Given the description of an element on the screen output the (x, y) to click on. 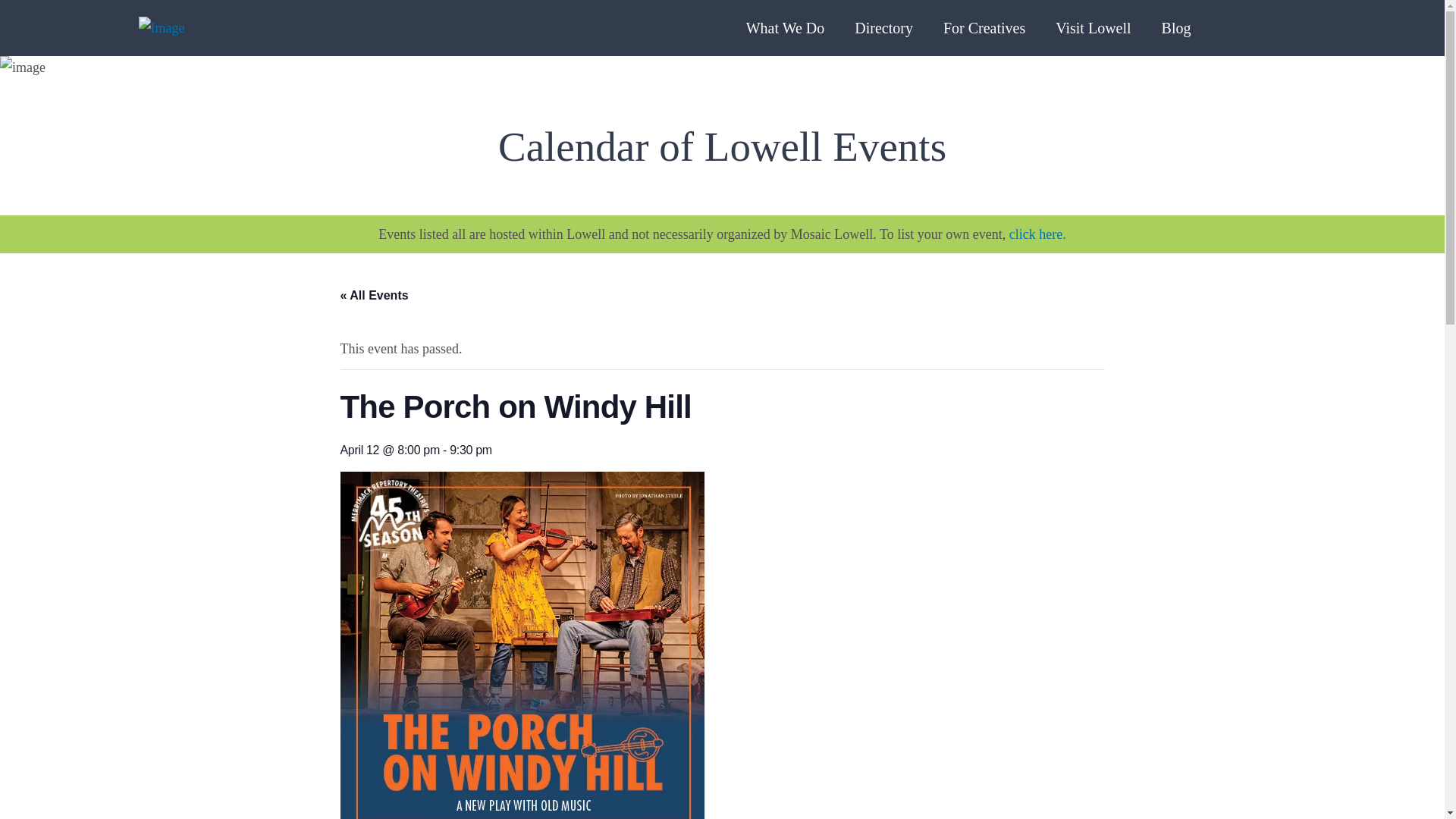
Visit Lowell (1093, 28)
click here. (1037, 233)
What We Do (785, 28)
For Creatives (984, 28)
Directory (883, 28)
